Given the description of an element on the screen output the (x, y) to click on. 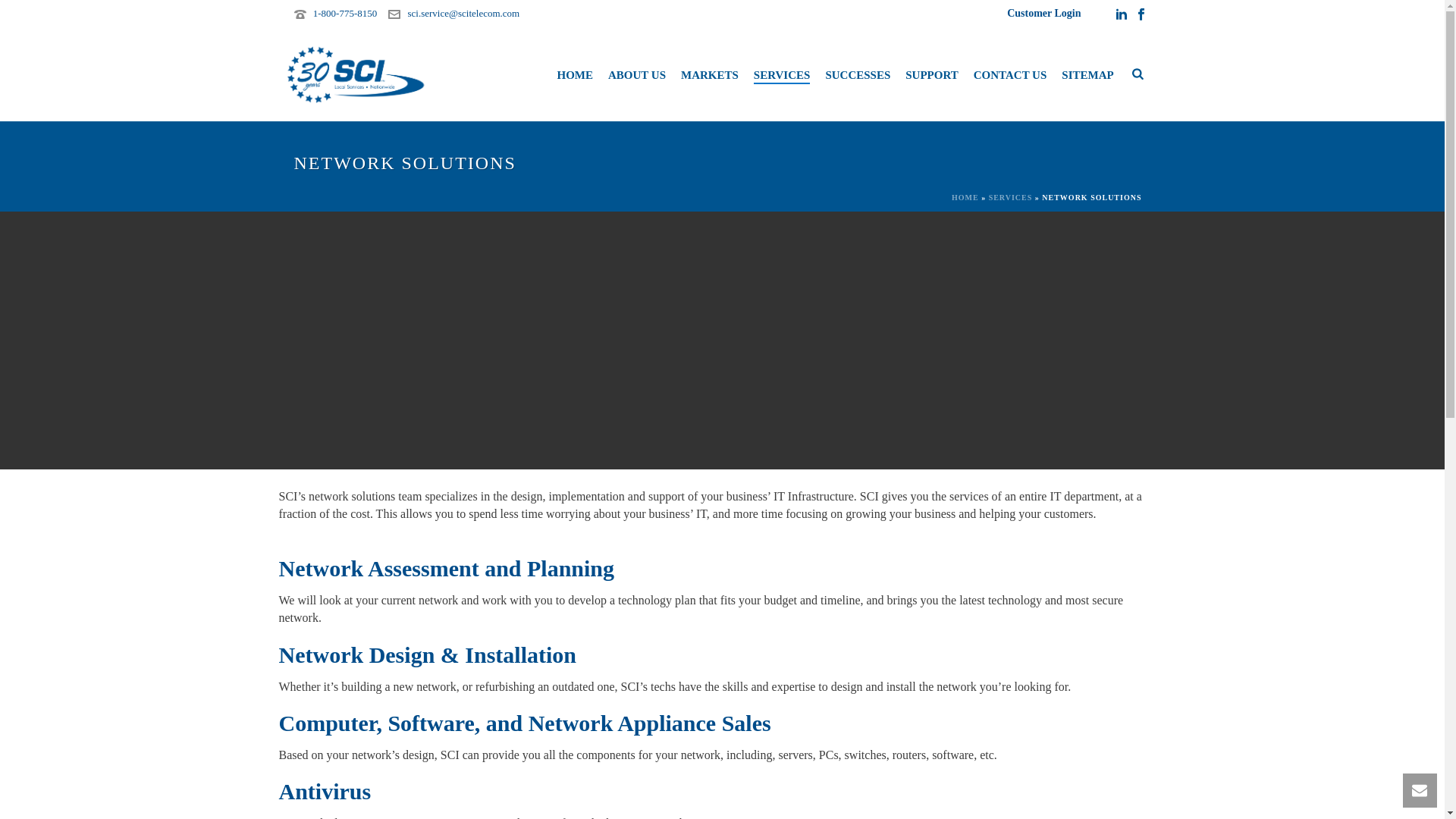
CONTACT US (1010, 75)
SUCCESSES (857, 75)
1-800-775-8150 (345, 12)
SERVICES (781, 75)
SITEMAP (1087, 75)
MARKETS (708, 75)
HOME (575, 75)
SUCCESSES (857, 75)
Intelligent Business Technology (354, 73)
ABOUT US (635, 75)
